Given the description of an element on the screen output the (x, y) to click on. 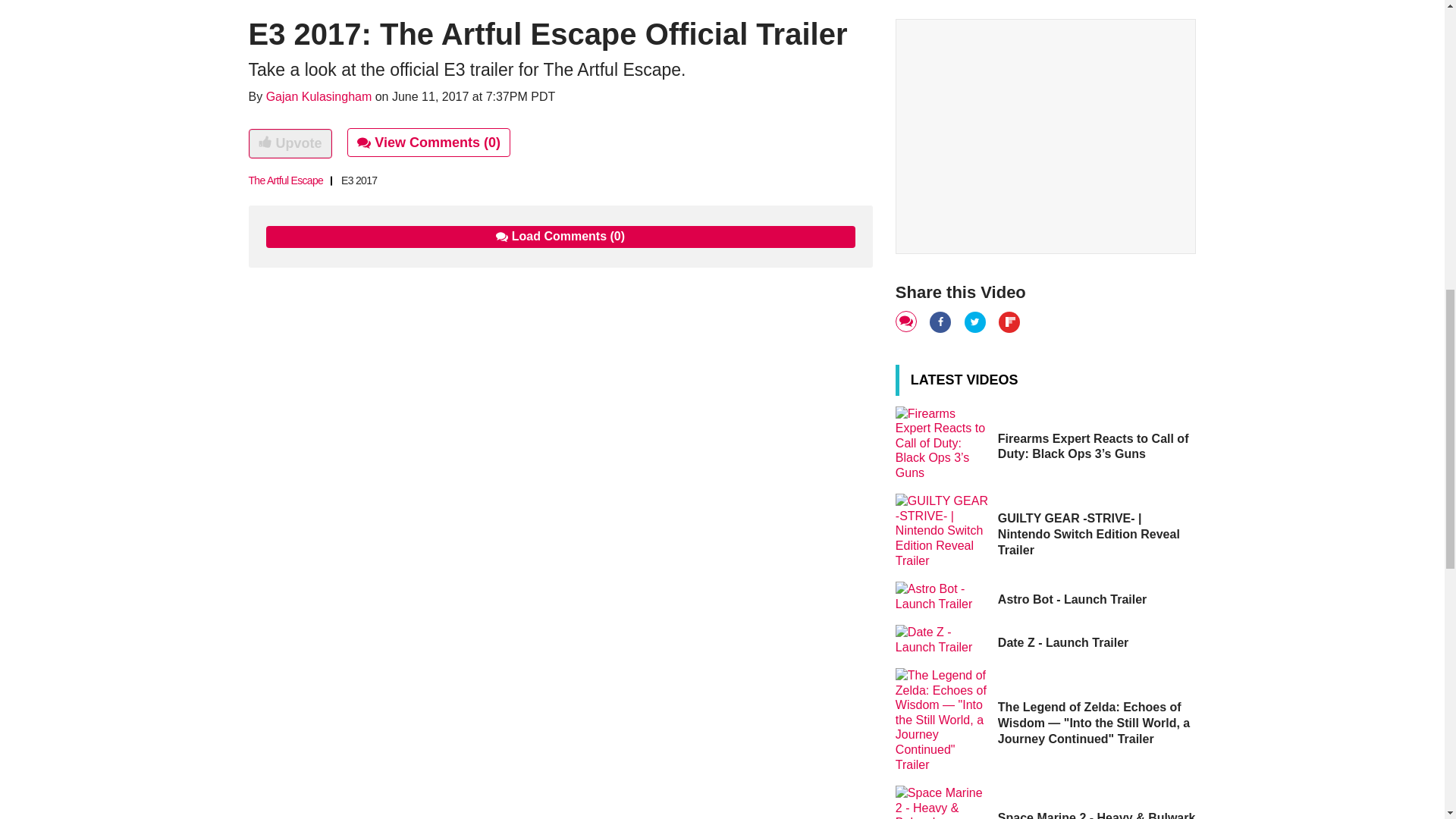
Comment (906, 322)
Facebook (941, 321)
Flipboard (1010, 321)
Twitter (975, 321)
